Given the description of an element on the screen output the (x, y) to click on. 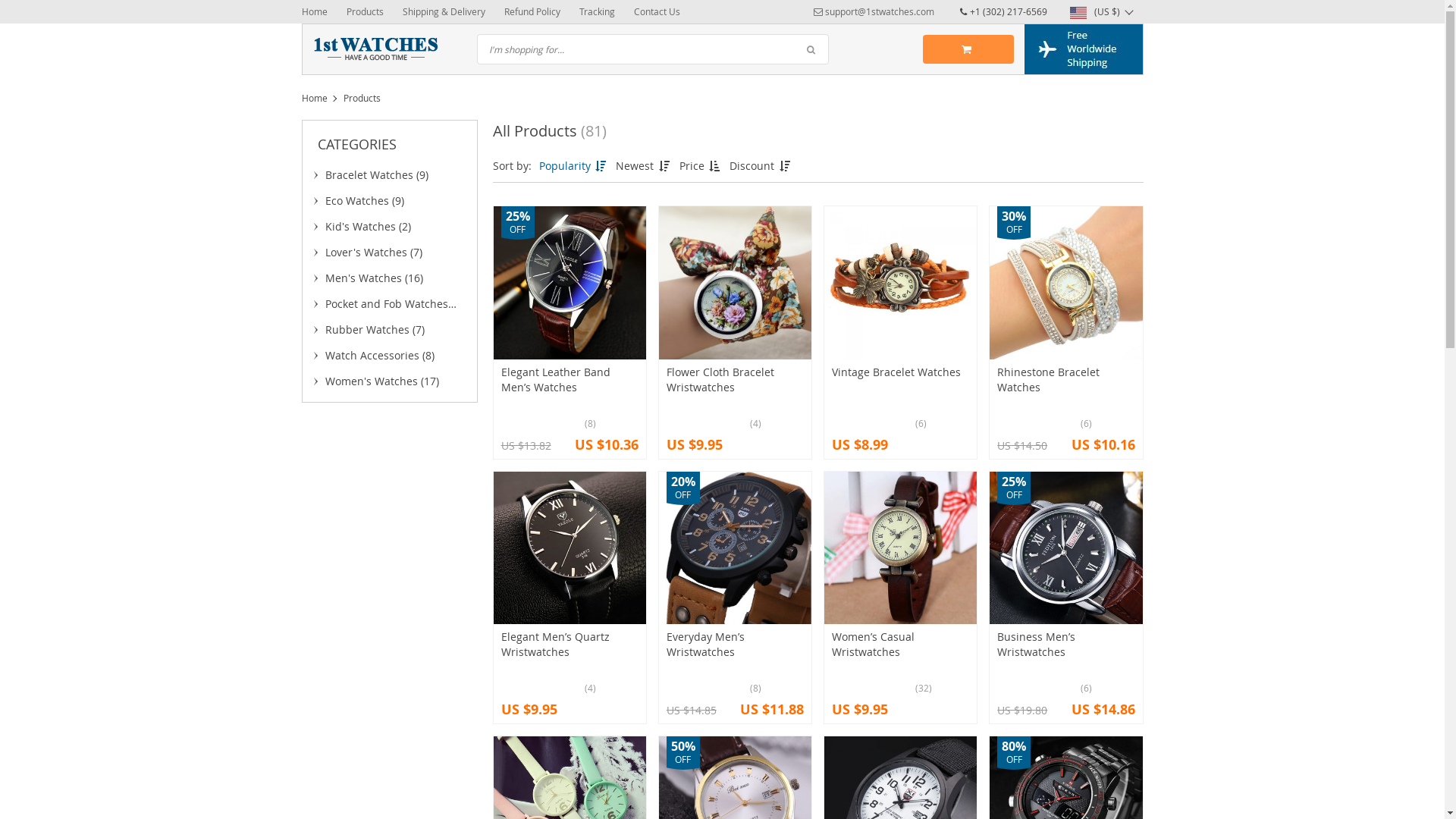
Kid's Watches (2) Element type: text (388, 225)
Newest Element type: text (643, 165)
Rhinestone Bracelet Watches
30% OFF
(6)
US $14.50

US $10.16 Element type: text (1065, 332)
Pocket and Fob Watches Element type: text (388, 303)
Men's Watches (16) Element type: text (388, 277)
Lover's Watches (7) Element type: text (388, 251)
Tracking Element type: text (597, 11)
Eco Watches (9) Element type: text (388, 200)
Products Element type: text (363, 11)
Watch Accessories (8) Element type: text (388, 354)
Bracelet Watches (9) Element type: text (388, 174)
Popularity Element type: text (573, 165)
Discount Element type: text (760, 165)
Contact Us Element type: text (656, 11)
Home Element type: text (314, 11)
Price Element type: text (700, 165)
Shipping & Delivery Element type: text (442, 11)
Rubber Watches (7) Element type: text (388, 329)
Flower Cloth Bracelet Wristwatches
(4)
US $9.95 Element type: text (734, 331)
Vintage Bracelet Watches
(6)
US $8.99 Element type: text (900, 331)
Refund Policy Element type: text (531, 11)
Home Element type: text (314, 97)
Women's Watches (17) Element type: text (388, 380)
support@1stwatches.com Element type: text (873, 11)
